Given the description of an element on the screen output the (x, y) to click on. 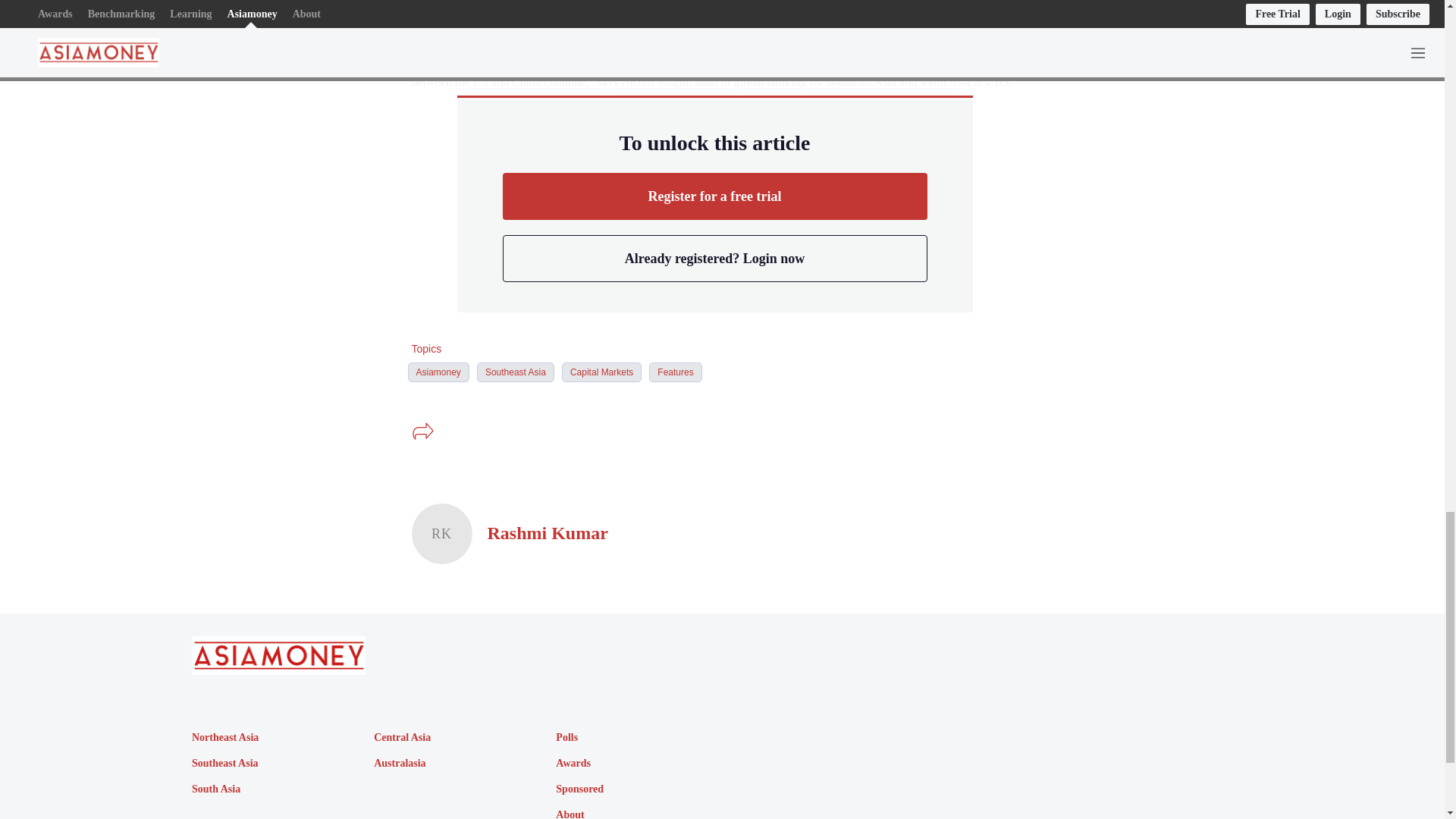
Share (421, 431)
